Given the description of an element on the screen output the (x, y) to click on. 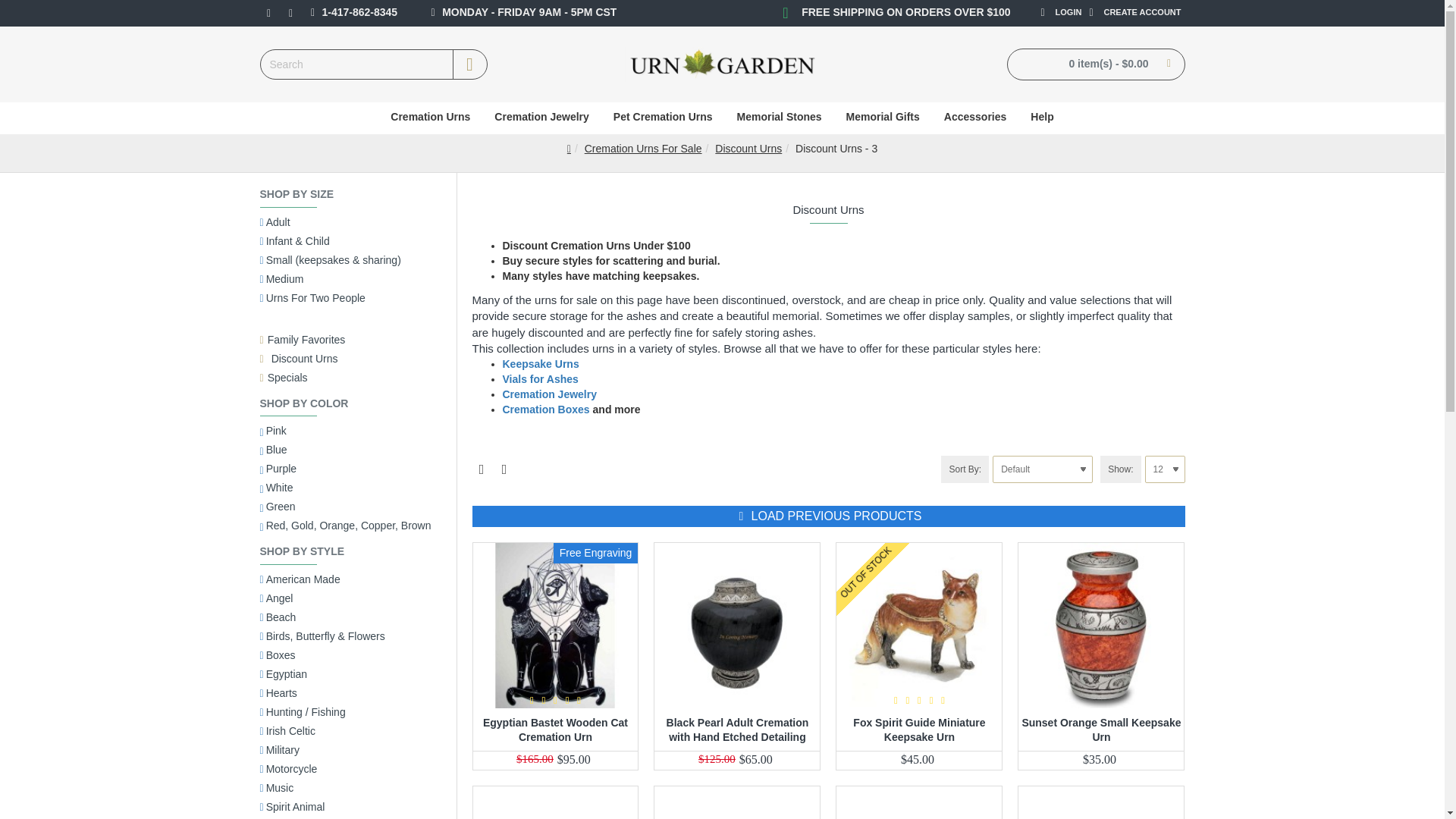
Pet Cremation Urns (663, 118)
Discount Urns (747, 149)
Cremation Jewelry (541, 118)
Cremation Urns (429, 118)
Family Favorites (302, 331)
Urns For Two People (312, 300)
Memorial Gifts (882, 118)
Discount Urns - 3 (835, 149)
1-417-862-8345 (351, 13)
Egyptian Bastet Wooden Cat Cremation Urn (556, 625)
